Given the description of an element on the screen output the (x, y) to click on. 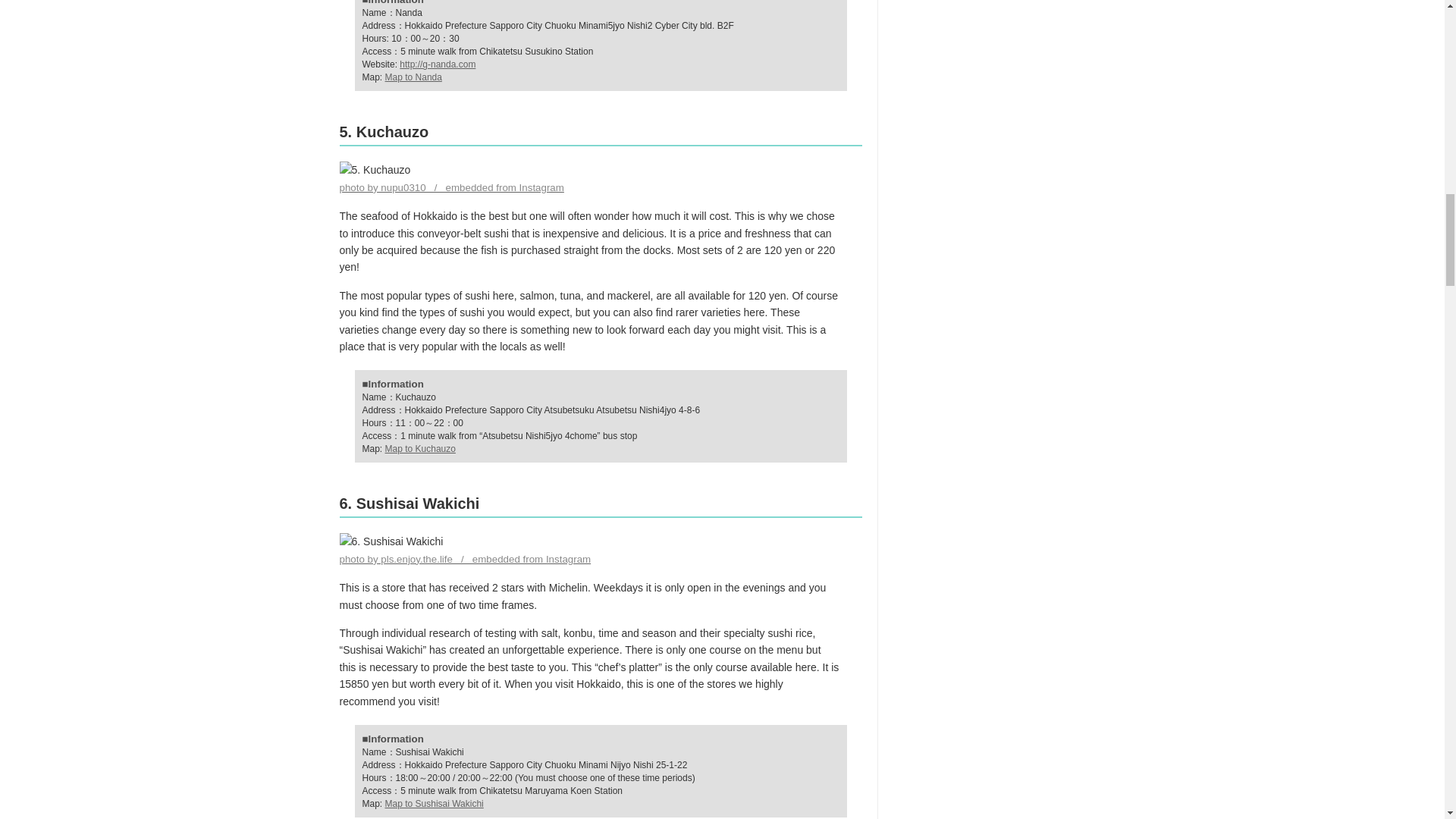
Map to Nanda (413, 77)
Map to Kuchauzo (420, 448)
5. Kuchauzo (374, 169)
6. Sushisai Wakichi (391, 541)
Map to Sushisai Wakichi (434, 803)
